Given the description of an element on the screen output the (x, y) to click on. 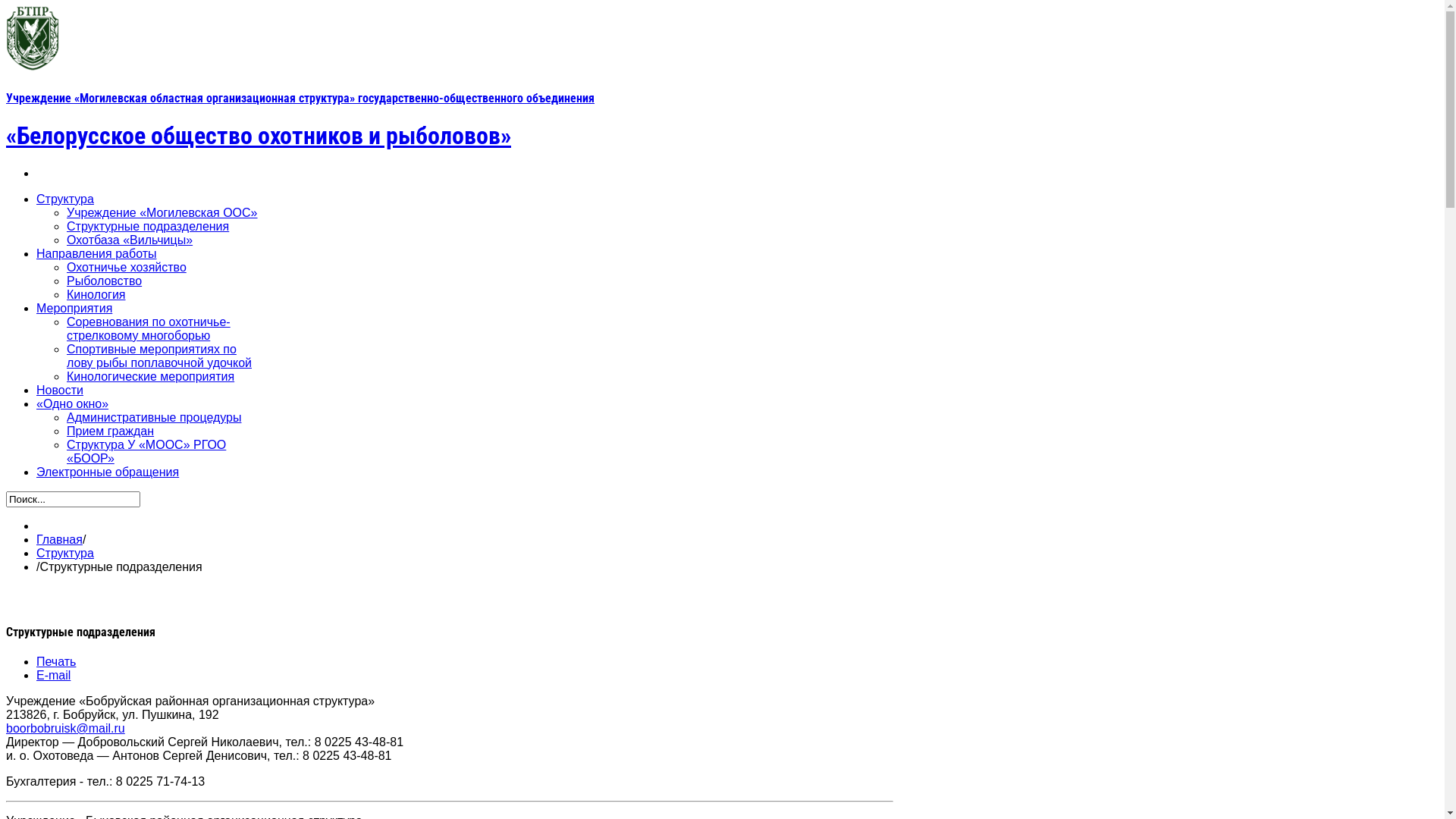
boorbobruisk@mail.ru Element type: text (65, 727)
E-mail Element type: text (53, 674)
